Given the description of an element on the screen output the (x, y) to click on. 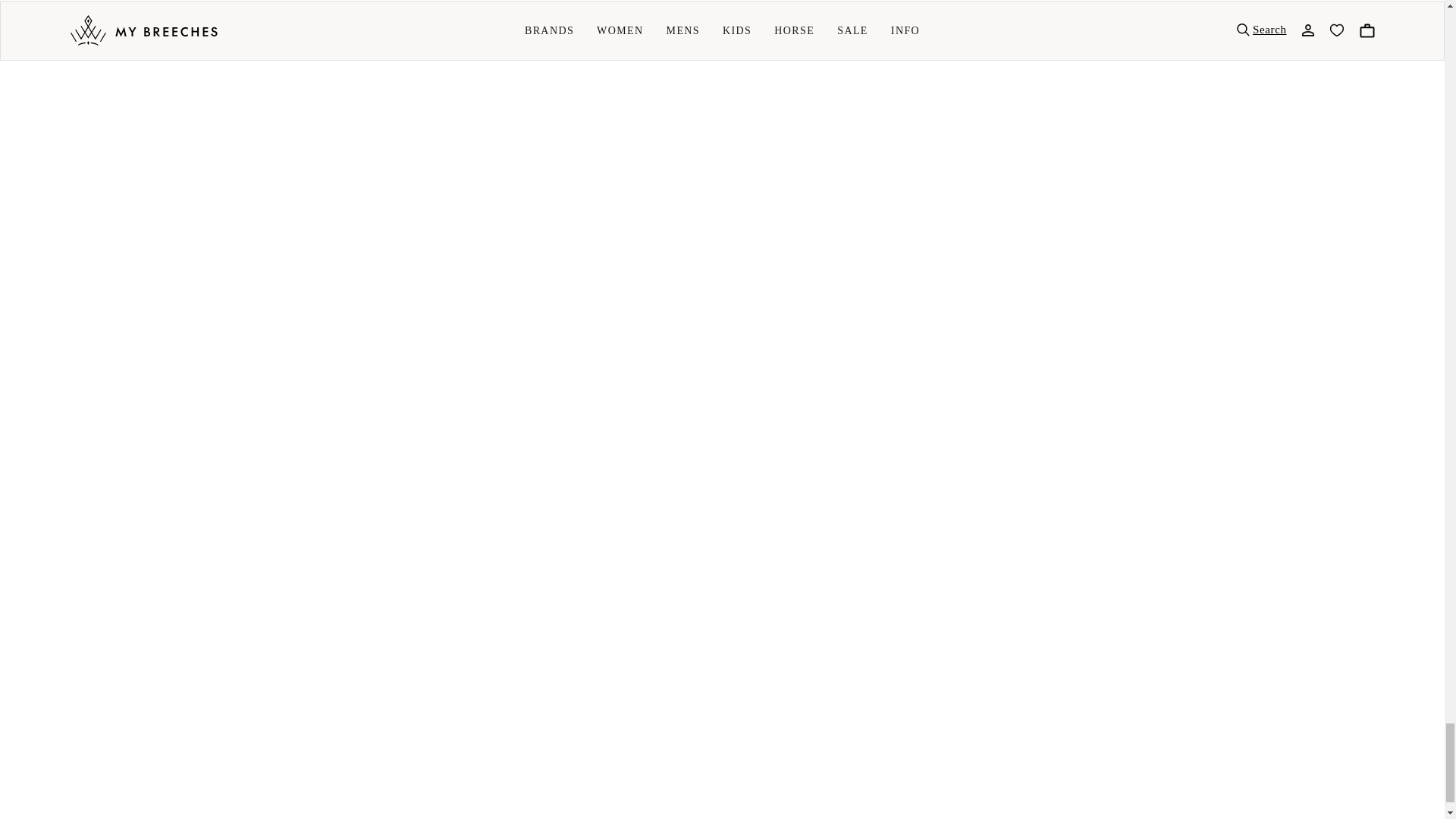
My Breeches on Instagram (168, 467)
My Breeches on Facebook (87, 467)
My Breeches on Twitter (129, 467)
